Given the description of an element on the screen output the (x, y) to click on. 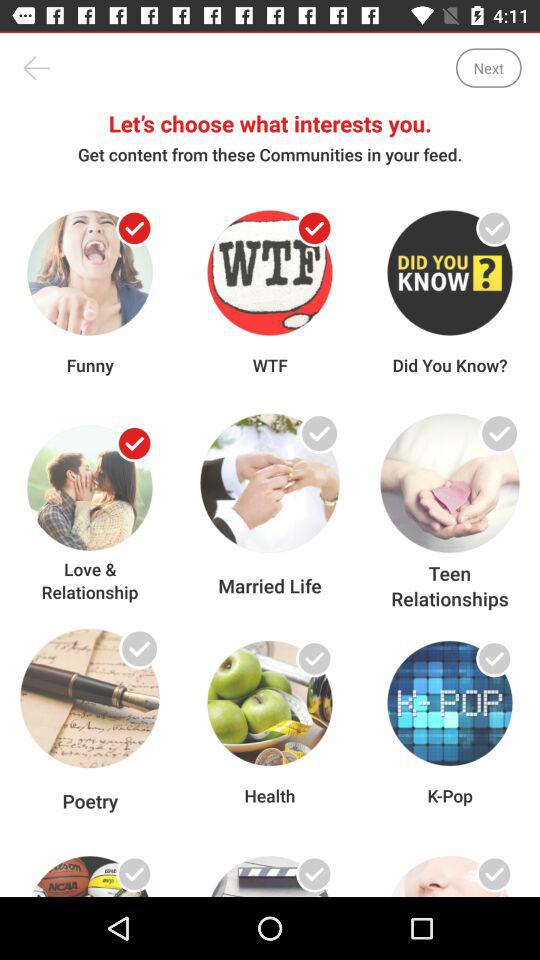
go do sealet (314, 443)
